Given the description of an element on the screen output the (x, y) to click on. 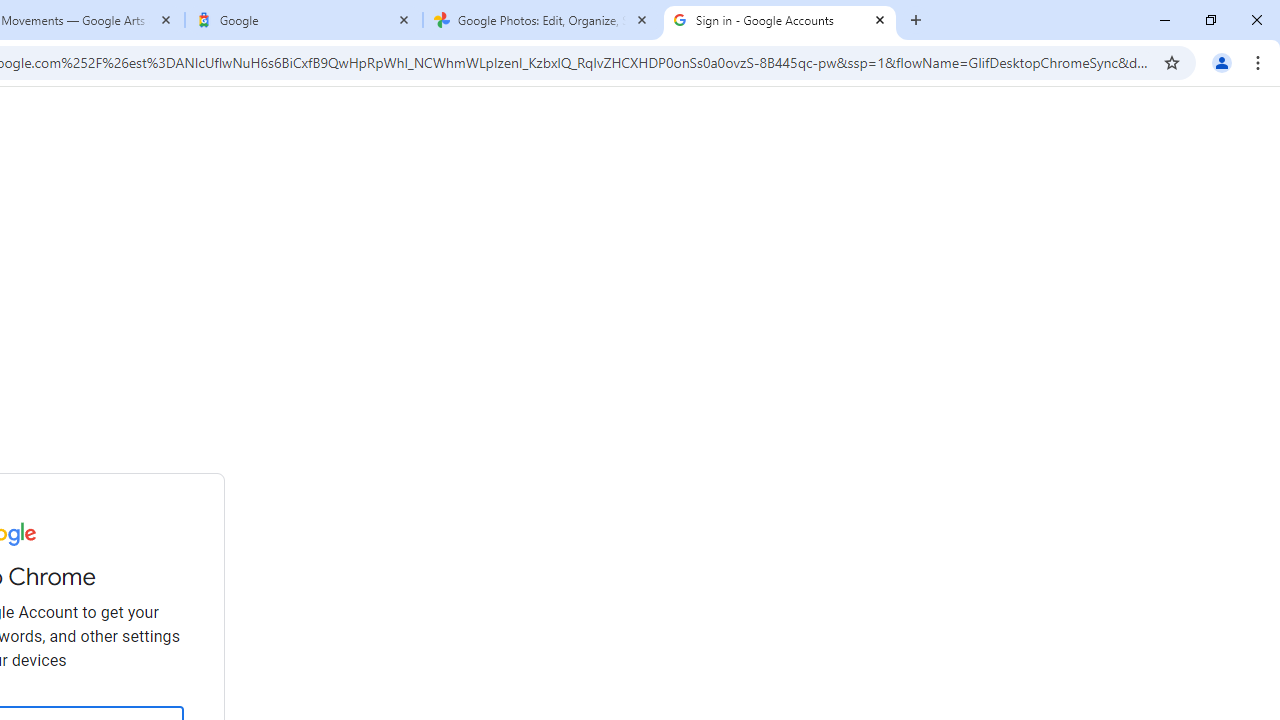
Google (304, 20)
Sign in - Google Accounts (779, 20)
